Given the description of an element on the screen output the (x, y) to click on. 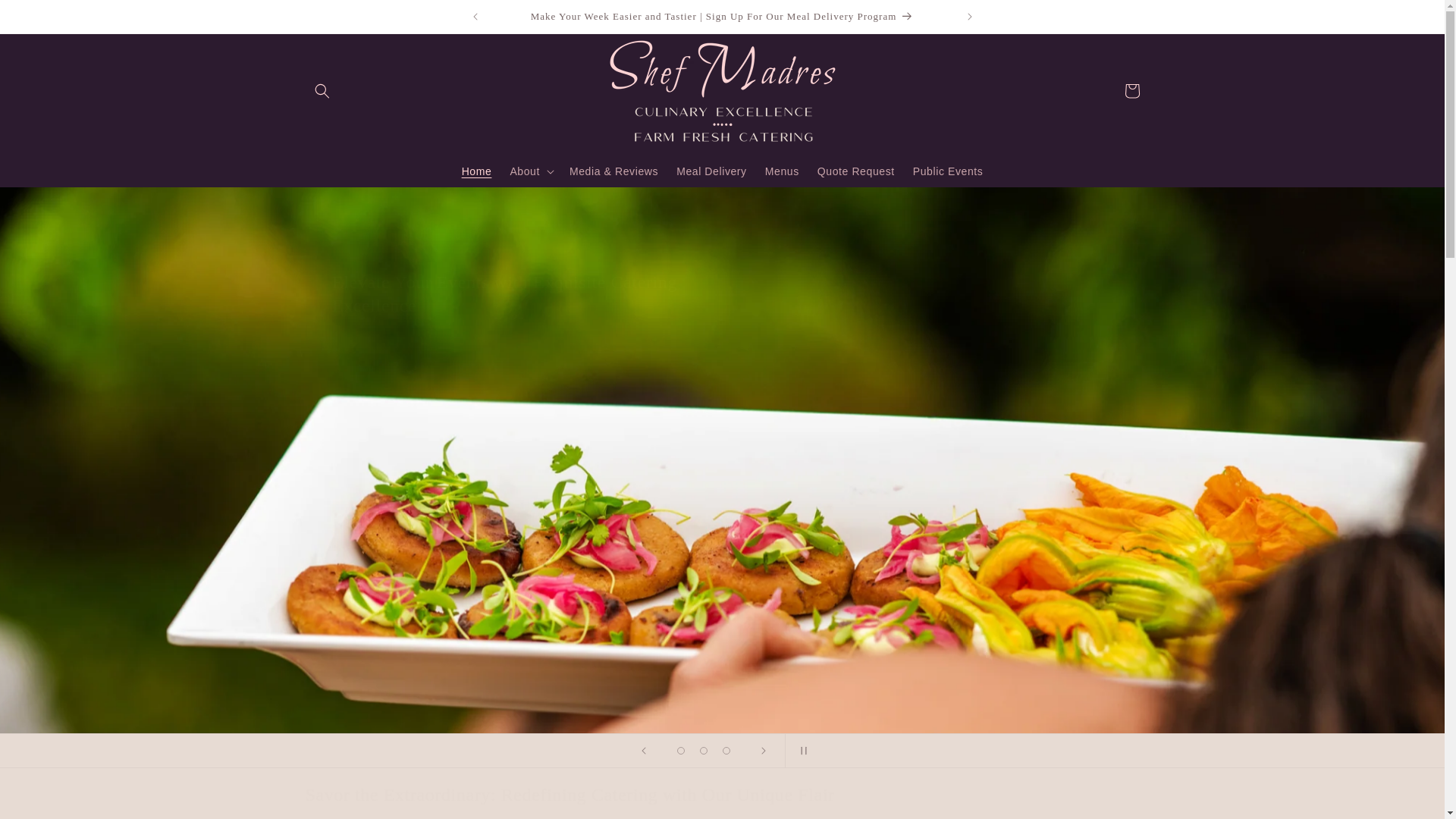
Quote Request (856, 170)
Menus (781, 170)
Cart (1131, 90)
Skip to content (45, 17)
Public Events (948, 170)
Meal Delivery (710, 170)
Home (476, 170)
